Given the description of an element on the screen output the (x, y) to click on. 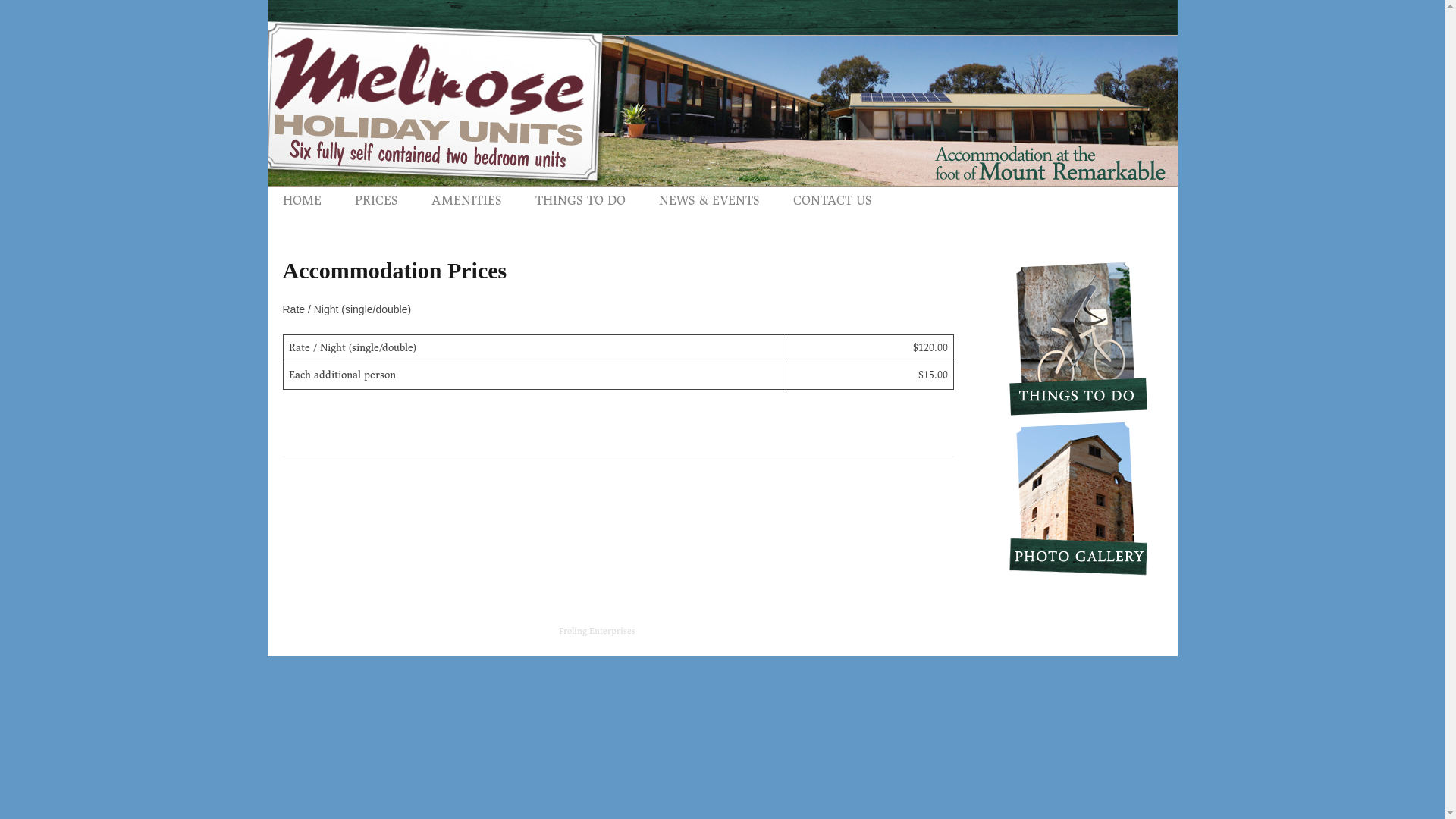
Froling Enterprises Element type: text (596, 631)
AMENITIES Element type: text (465, 201)
THINGS TO DO Element type: text (580, 201)
NEWS & EVENTS Element type: text (708, 201)
CONTACT US Element type: text (832, 201)
PRICES Element type: text (376, 201)
HOME Element type: text (301, 201)
